Given the description of an element on the screen output the (x, y) to click on. 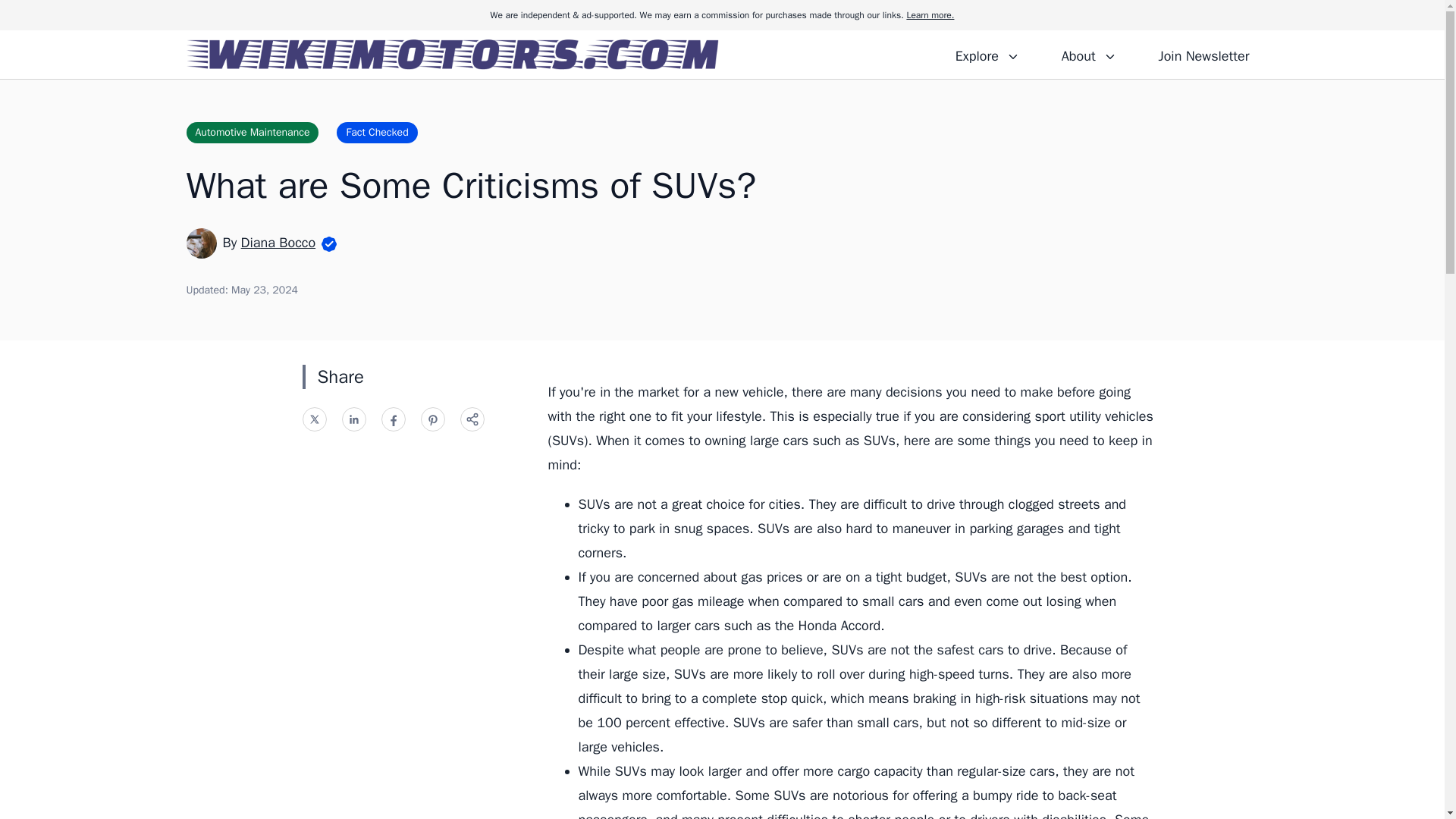
About (1088, 54)
Explore (986, 54)
Diana Bocco (278, 242)
Automotive Maintenance (252, 132)
Join Newsletter (1202, 54)
Fact Checked (376, 132)
Learn more. (929, 15)
